Given the description of an element on the screen output the (x, y) to click on. 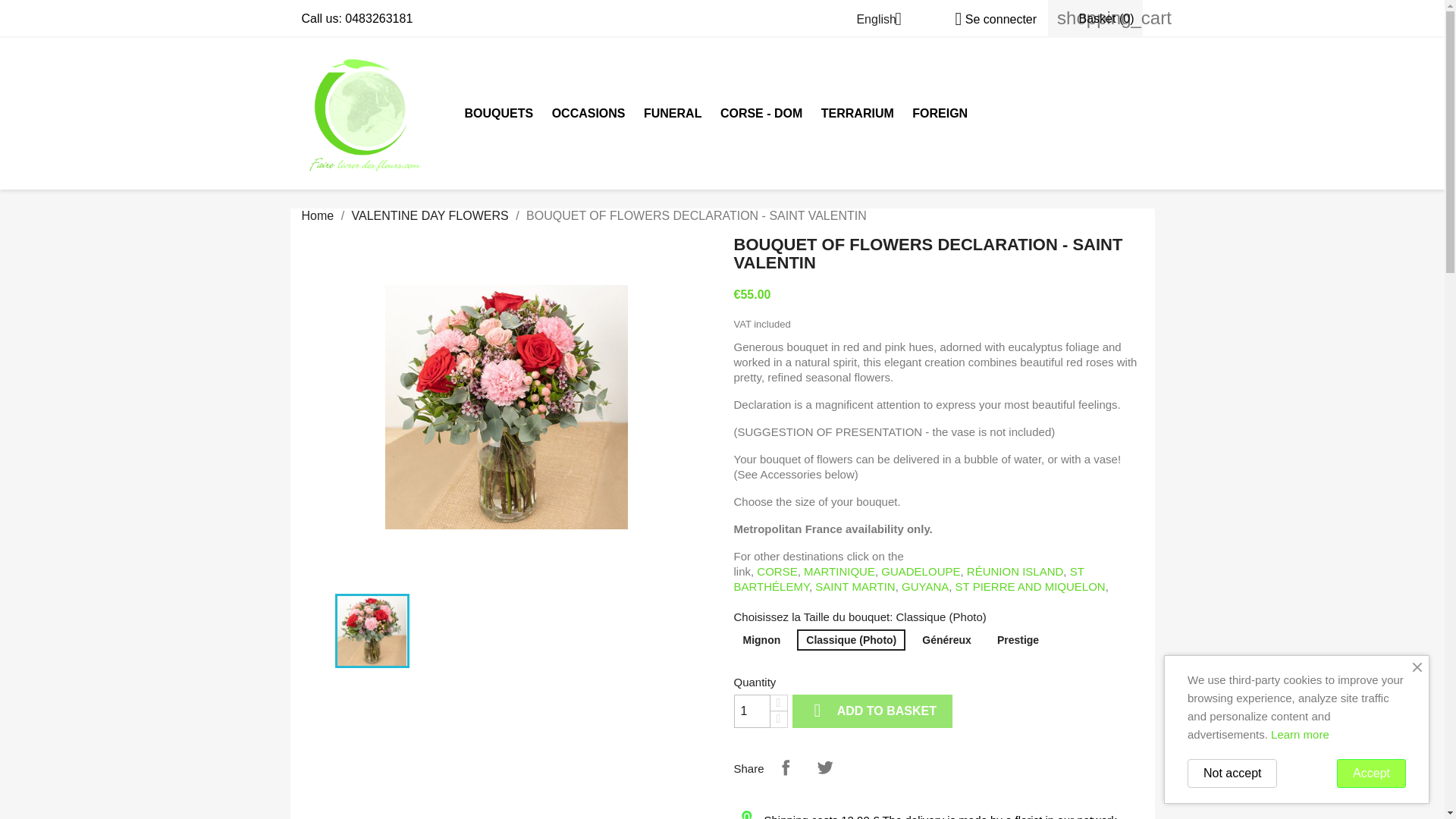
Tweet (824, 767)
0483263181 (378, 18)
CORSE - DOM (761, 113)
OCCASIONS (588, 113)
Share (785, 767)
Log in to your customer account (989, 19)
FUNERAL (672, 113)
1 (751, 711)
BOUQUET OF FLOWERS DECLARATION - SAINT VALENTIN (371, 630)
BOUQUET OF FLOWERS DECLARATION - SAINT VALENTIN (506, 406)
